Given the description of an element on the screen output the (x, y) to click on. 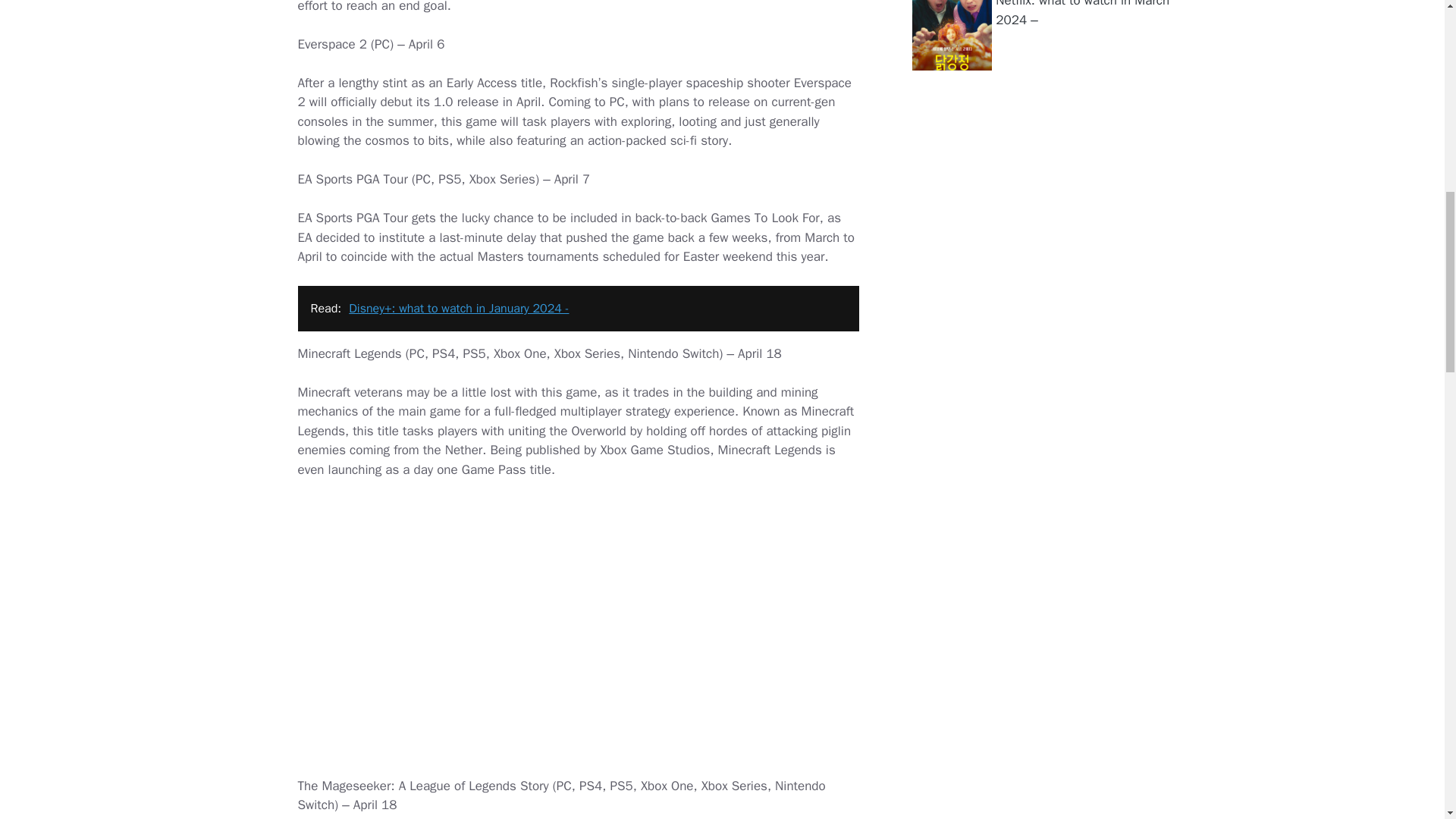
Scroll back to top (1406, 720)
